Given the description of an element on the screen output the (x, y) to click on. 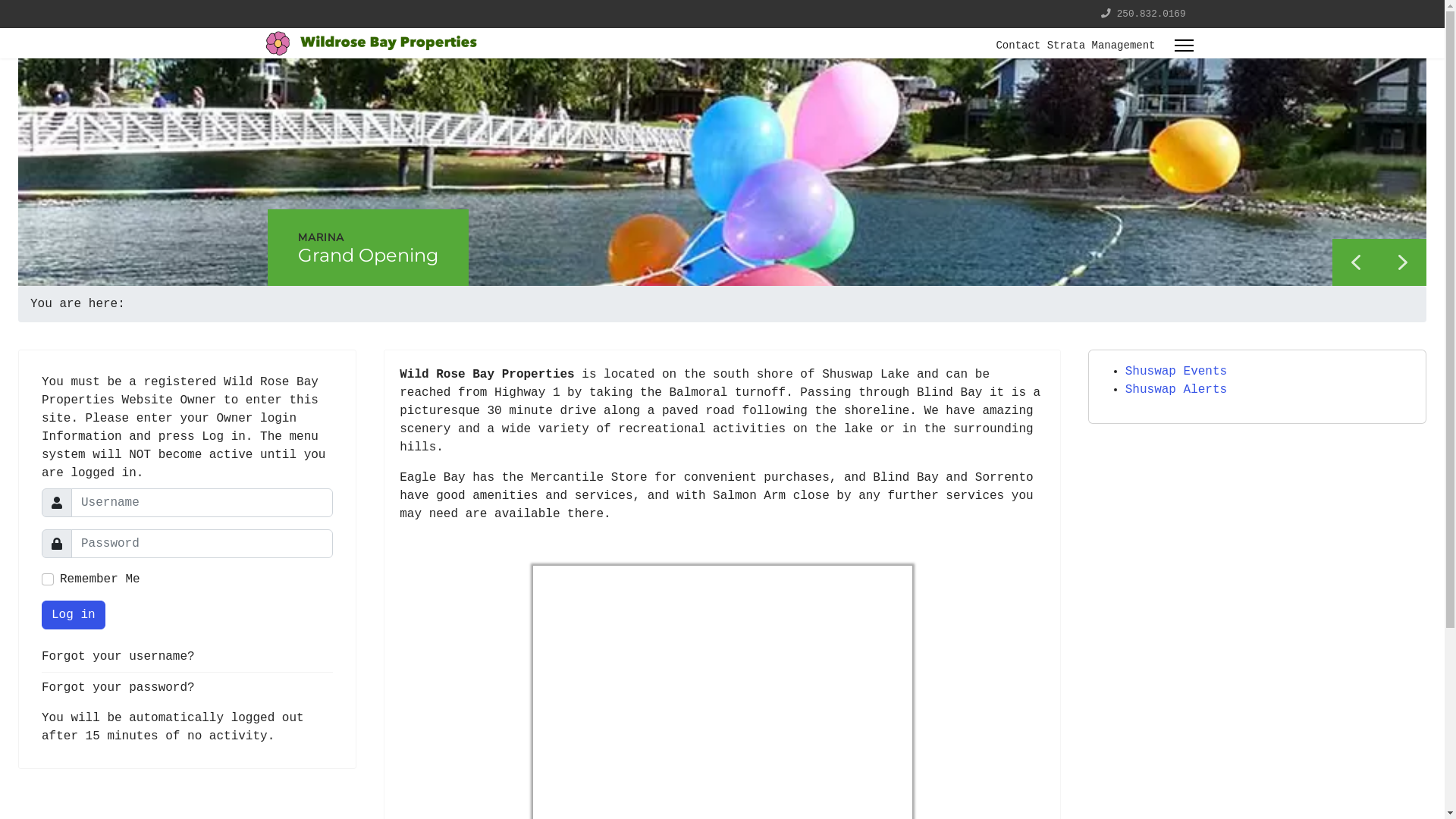
Forgot your password? Element type: text (186, 687)
Shuswap Events Element type: text (1175, 371)
Log in Element type: text (73, 614)
250.832.0169 Element type: text (1151, 14)
Contact Strata Management Element type: text (1069, 45)
Shuswap Alerts Element type: text (1175, 389)
Menu Element type: hover (1182, 45)
Forgot your username? Element type: text (186, 656)
